Given the description of an element on the screen output the (x, y) to click on. 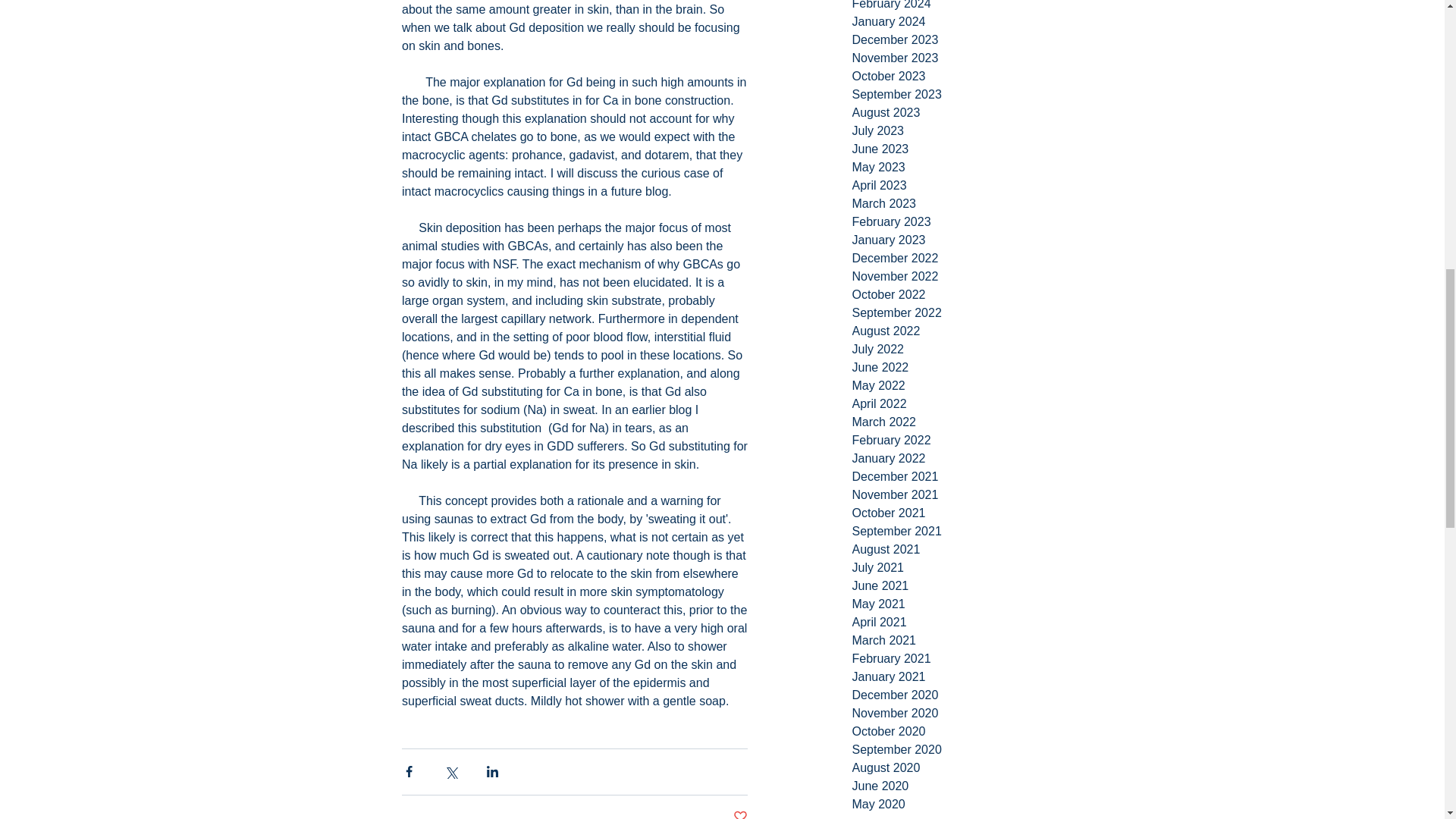
June 2023 (965, 149)
August 2023 (965, 113)
December 2023 (965, 40)
September 2023 (965, 94)
November 2023 (965, 58)
April 2023 (965, 185)
July 2023 (965, 131)
December 2022 (965, 258)
February 2024 (965, 6)
November 2022 (965, 276)
March 2023 (965, 203)
January 2023 (965, 239)
February 2023 (965, 221)
October 2023 (965, 76)
January 2024 (965, 22)
